Given the description of an element on the screen output the (x, y) to click on. 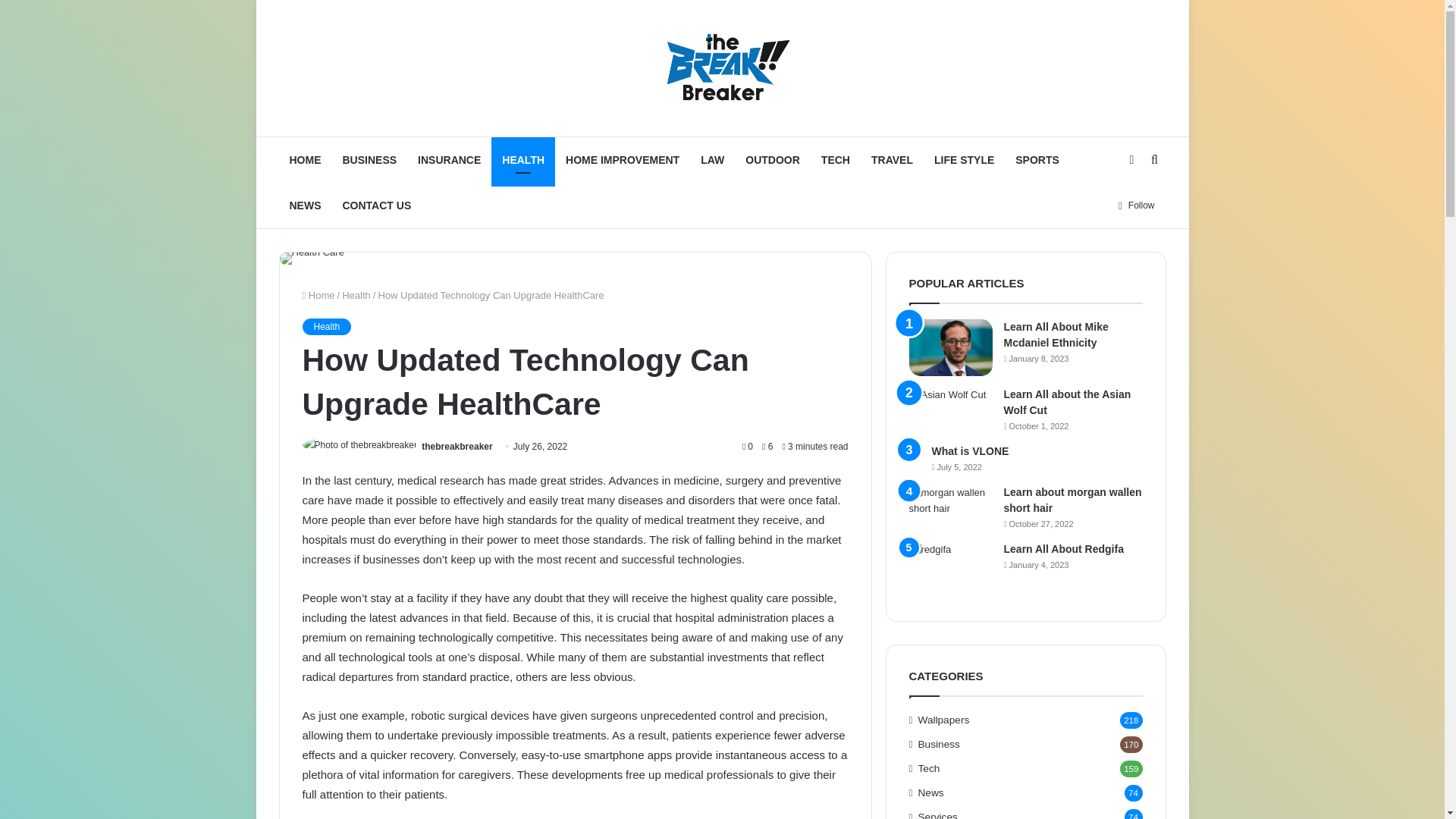
LIFE STYLE (963, 159)
CONTACT US (376, 205)
TRAVEL (891, 159)
Home (317, 295)
HOME (305, 159)
SPORTS (1037, 159)
NEWS (305, 205)
HOME IMPROVEMENT (622, 159)
INSURANCE (449, 159)
thebreakbreaker (457, 446)
Health (325, 326)
BUSINESS (369, 159)
Health (356, 295)
OUTDOOR (772, 159)
HEALTH (523, 159)
